Given the description of an element on the screen output the (x, y) to click on. 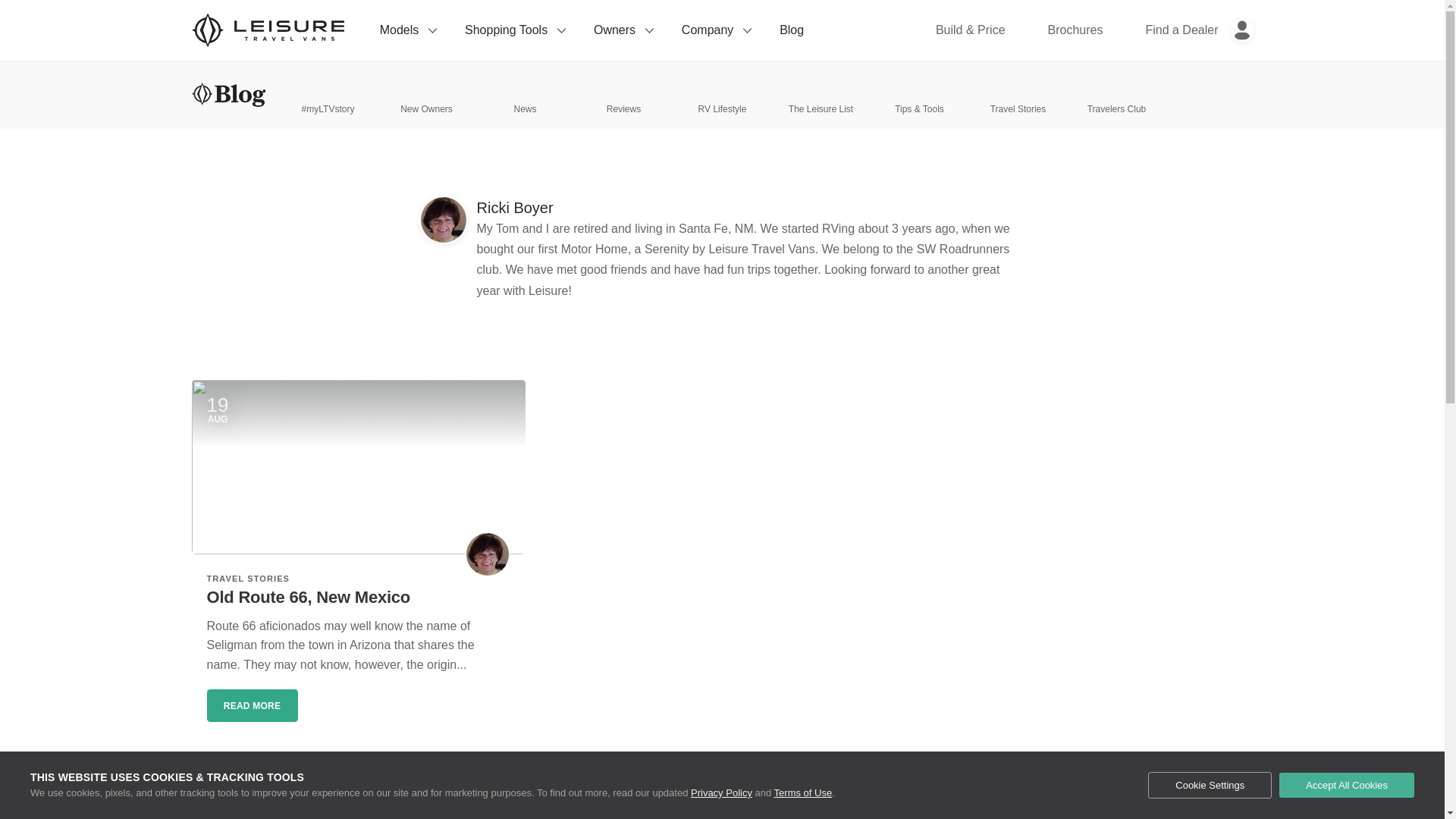
Cookie Settings (1209, 785)
Terms of Use (803, 792)
View all posts in Travel Stories (247, 578)
Models (407, 30)
Privacy Policy (721, 792)
Accept All Cookies (1346, 785)
Shopping Tools (514, 30)
